Given the description of an element on the screen output the (x, y) to click on. 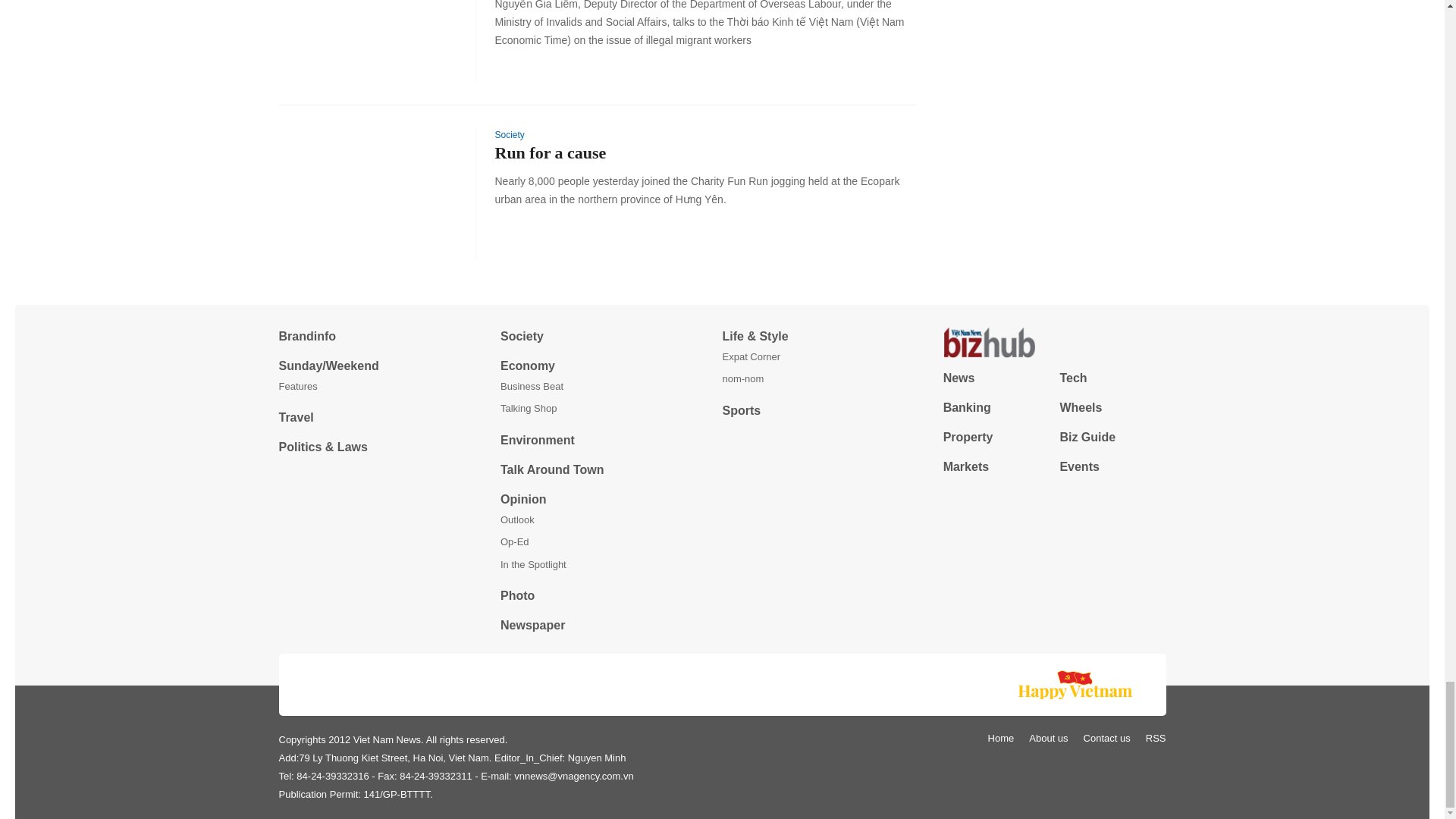
bizhub (1054, 342)
